Given the description of an element on the screen output the (x, y) to click on. 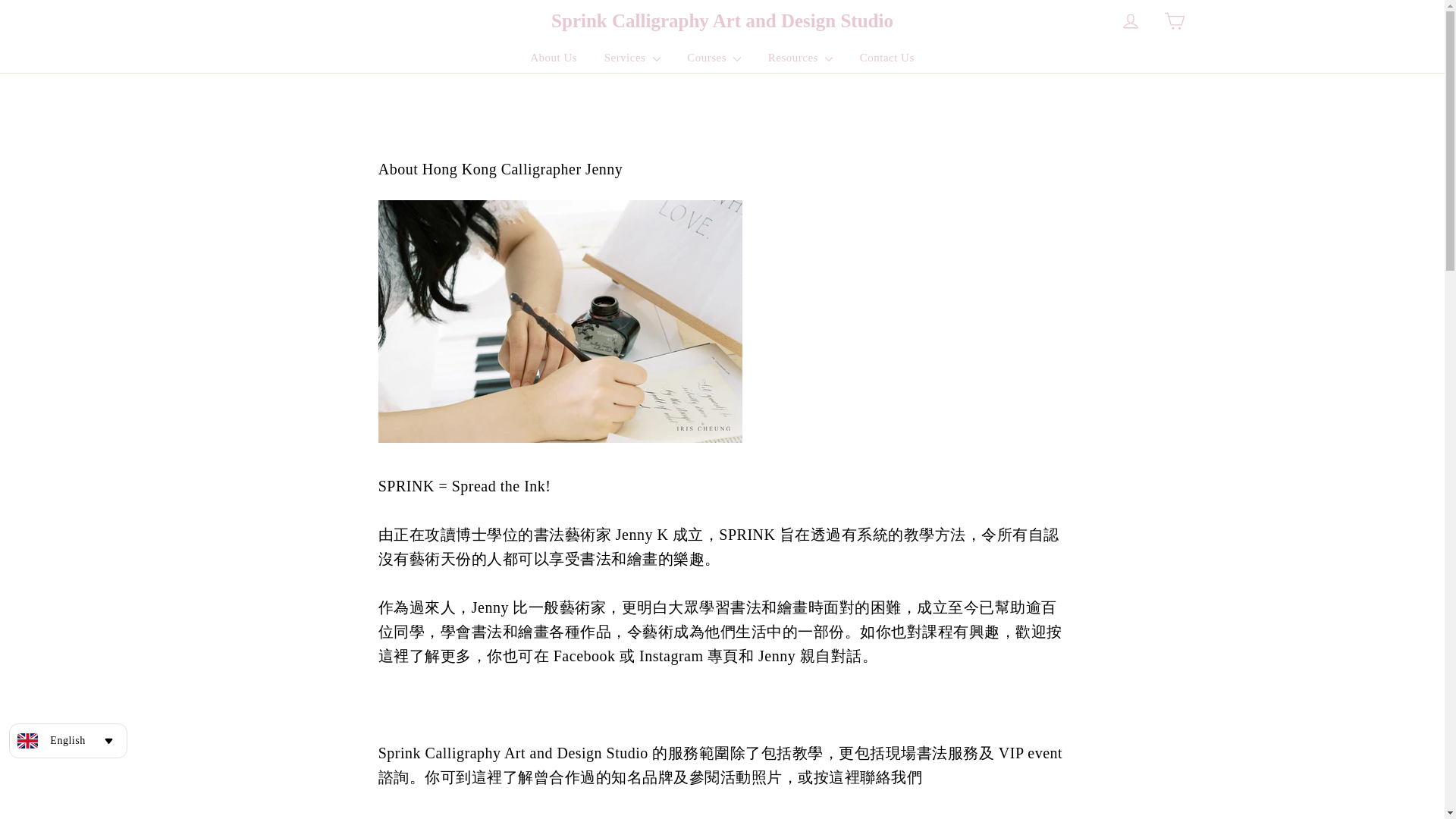
Courses (713, 57)
Sprink Calligraphy Art and Design Studio (722, 20)
Services (631, 57)
About Us (553, 57)
